Given the description of an element on the screen output the (x, y) to click on. 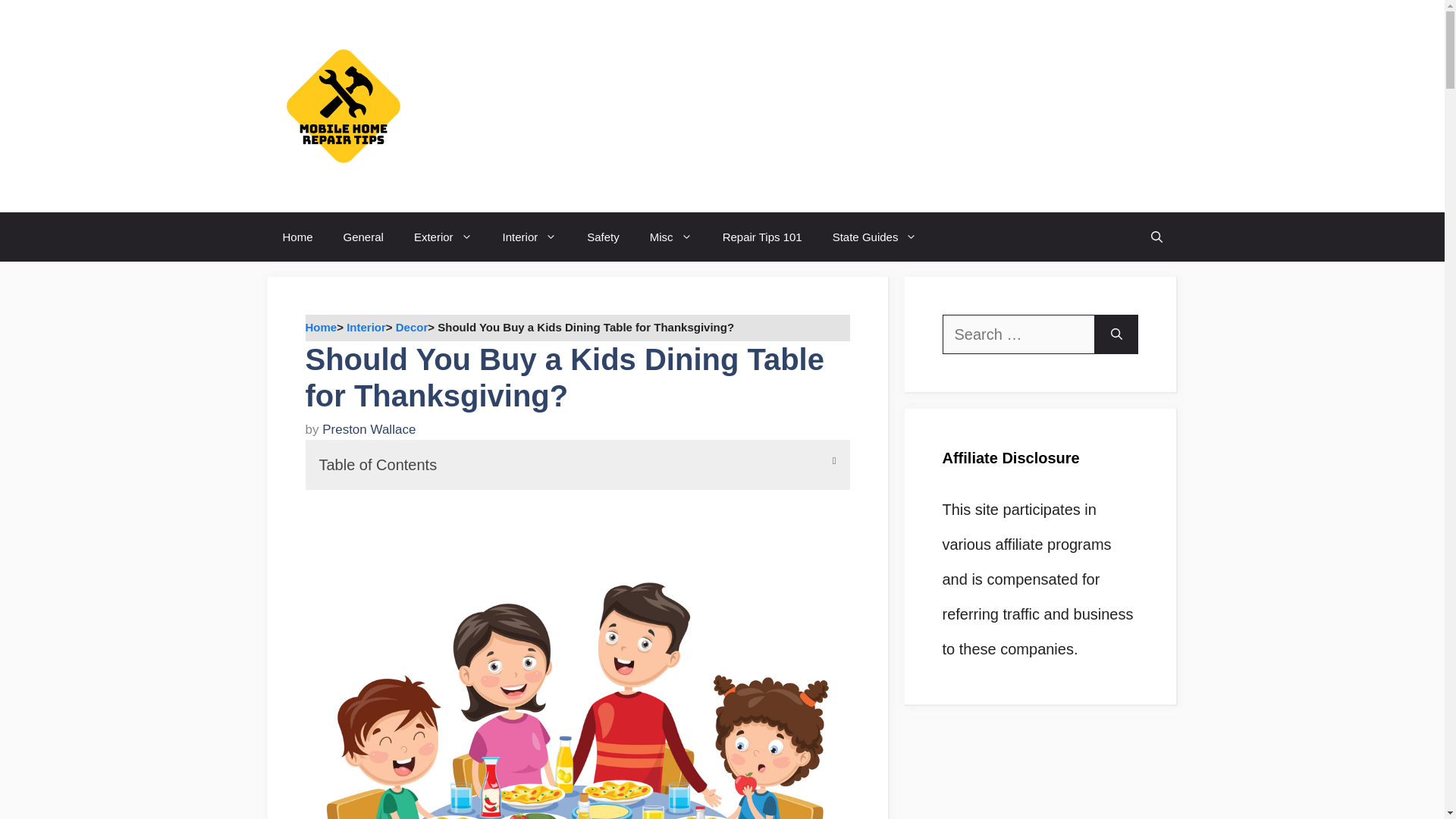
Exterior (442, 236)
Go to Home. (320, 327)
Go to the Interior Category archives. (365, 327)
Interior (529, 236)
General (363, 236)
View all posts by Preston Wallace (367, 429)
Search for: (1018, 333)
Home (296, 236)
Go to the Decor Category archives. (412, 327)
